Given the description of an element on the screen output the (x, y) to click on. 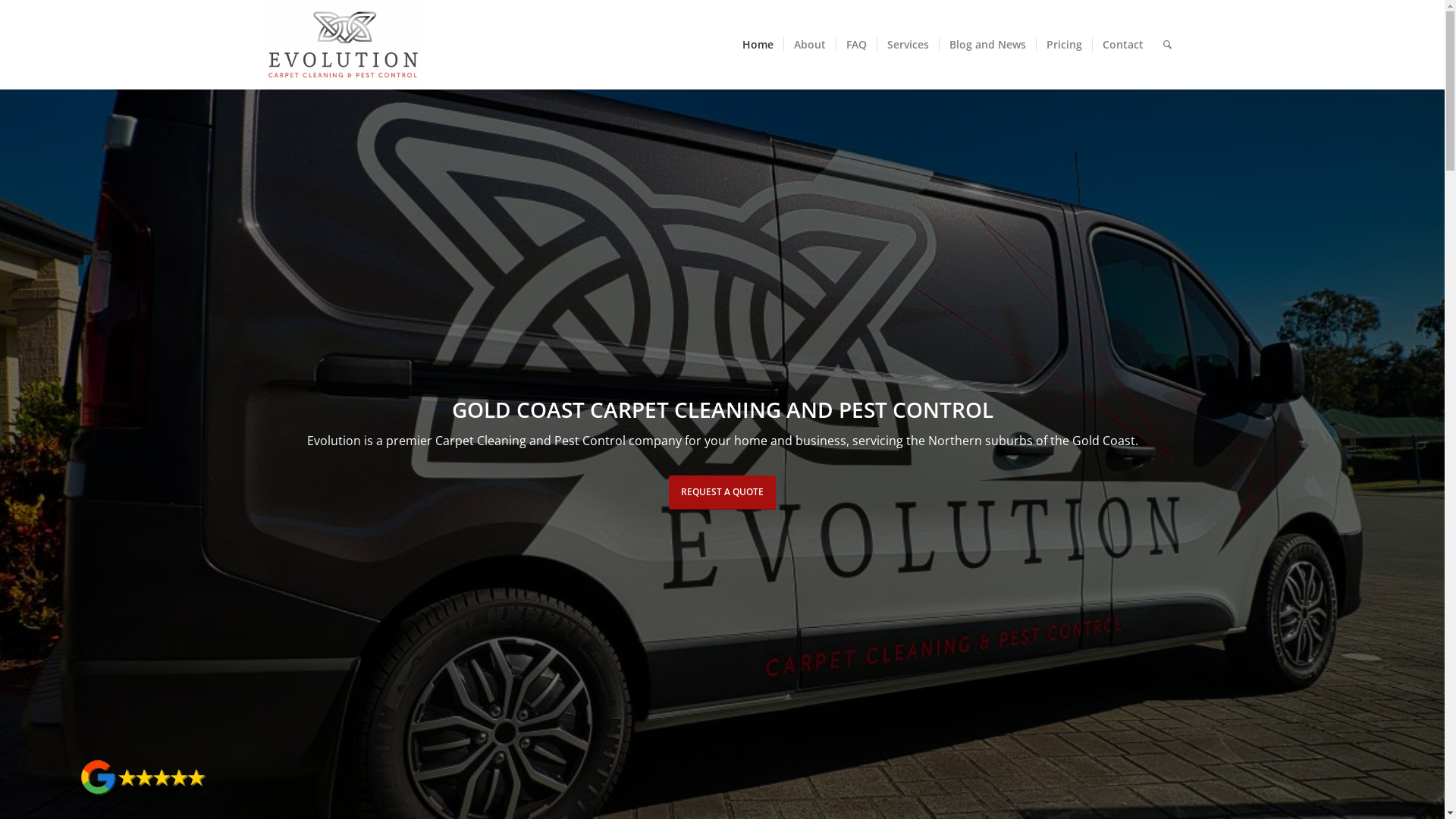
Blog and News Element type: text (986, 44)
Pricing Element type: text (1063, 44)
Services Element type: text (907, 44)
REQUEST A QUOTE Element type: text (721, 492)
Contact Element type: text (1122, 44)
About Element type: text (808, 44)
FAQ Element type: text (855, 44)
Home Element type: text (757, 44)
